Given the description of an element on the screen output the (x, y) to click on. 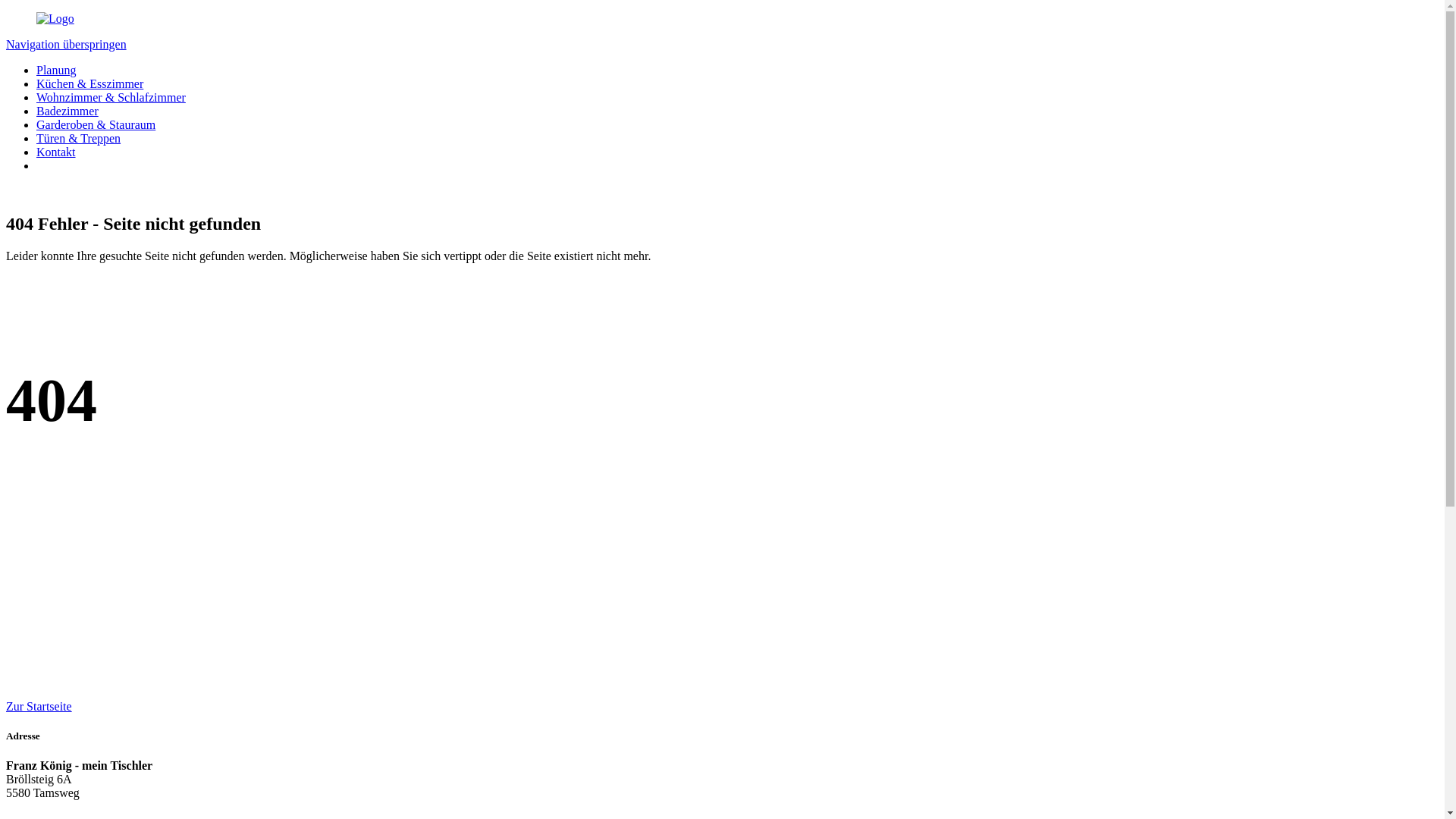
Badezimmer Element type: text (67, 110)
Planung Element type: text (55, 69)
Kontakt Element type: text (55, 151)
Garderoben & Stauraum Element type: text (95, 124)
Zur Startseite Element type: text (39, 705)
Wohnzimmer & Schlafzimmer Element type: text (110, 97)
  Element type: text (7, 191)
